Given the description of an element on the screen output the (x, y) to click on. 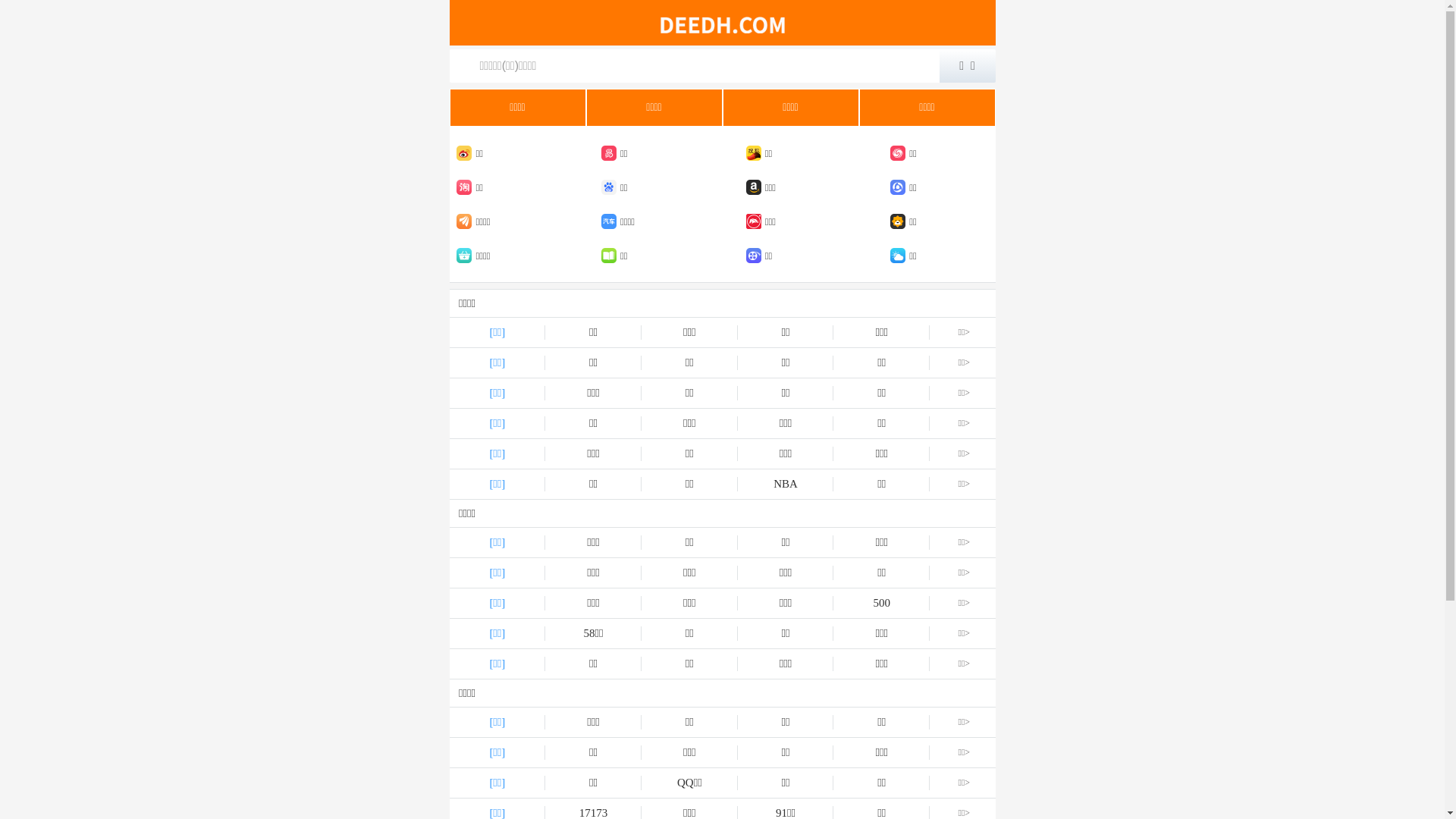
NBA Element type: text (785, 483)
500 Element type: text (881, 603)
